Given the description of an element on the screen output the (x, y) to click on. 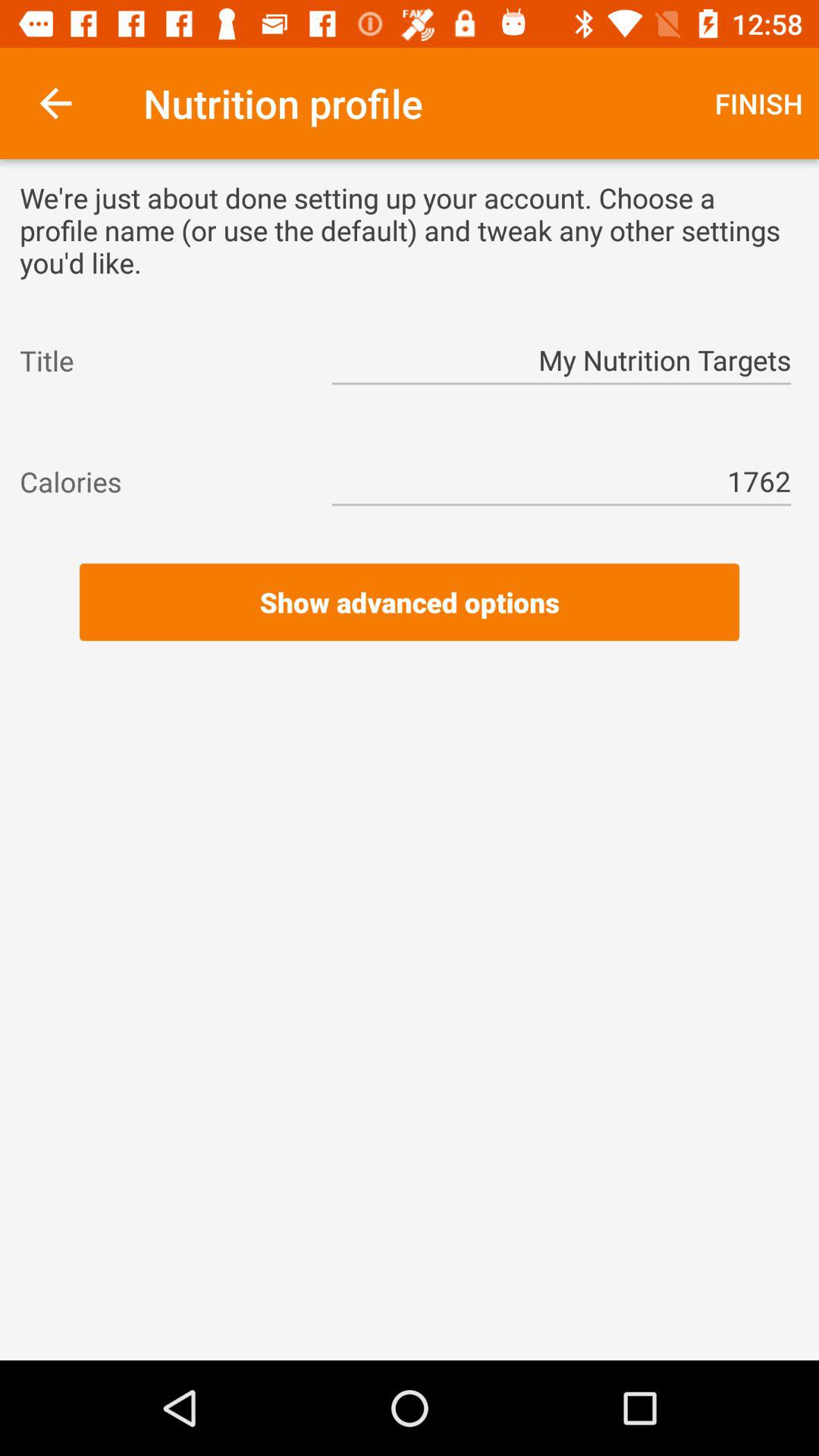
tap the item to the left of the my nutrition targets item (161, 360)
